Given the description of an element on the screen output the (x, y) to click on. 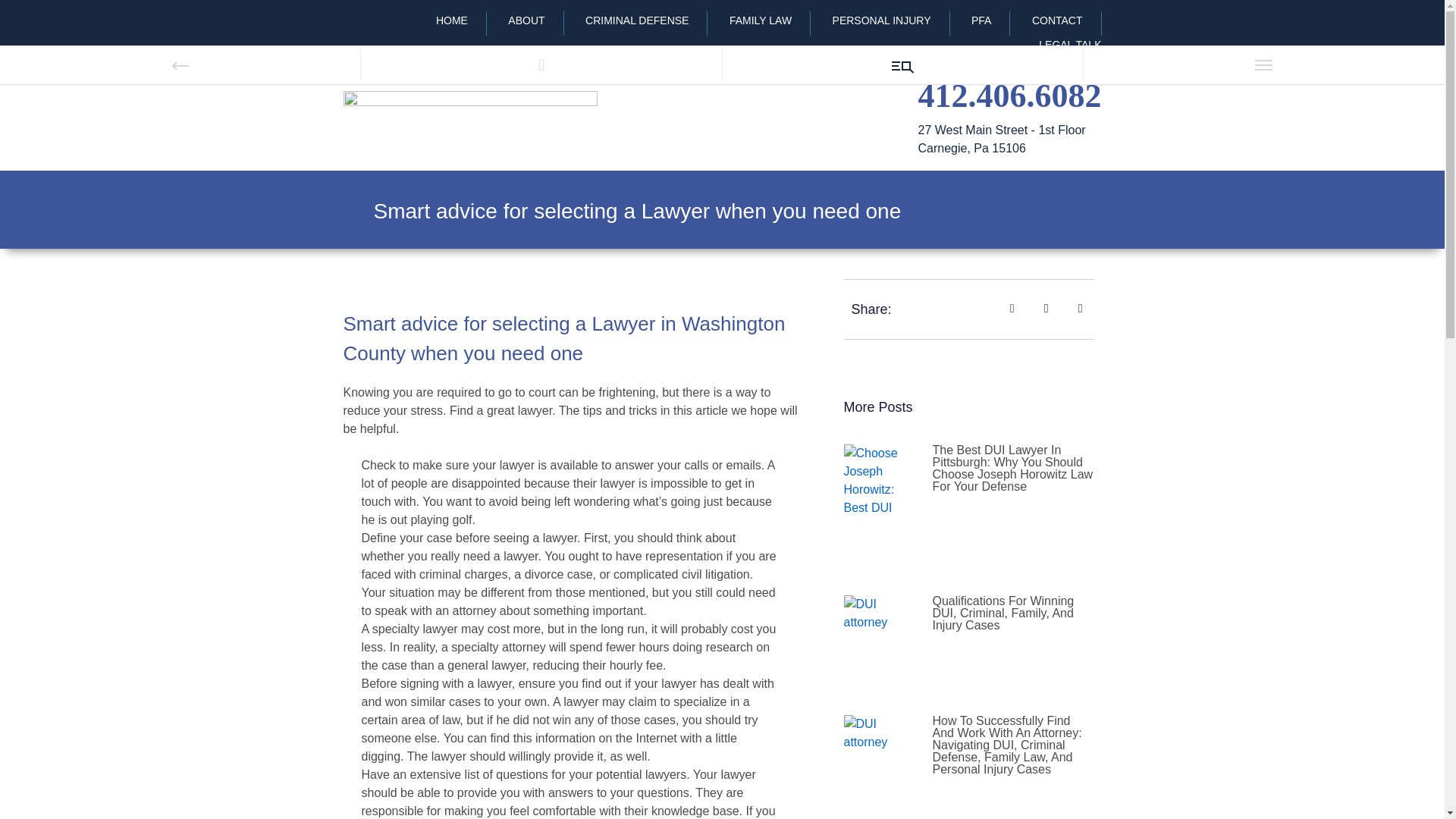
CRIMINAL DEFENSE (636, 20)
HOME (451, 20)
PFA (981, 20)
LEGAL TALK (1060, 45)
FAMILY LAW (760, 20)
CONTACT (1056, 20)
ABOUT (525, 20)
PERSONAL INJURY (881, 20)
